Given the description of an element on the screen output the (x, y) to click on. 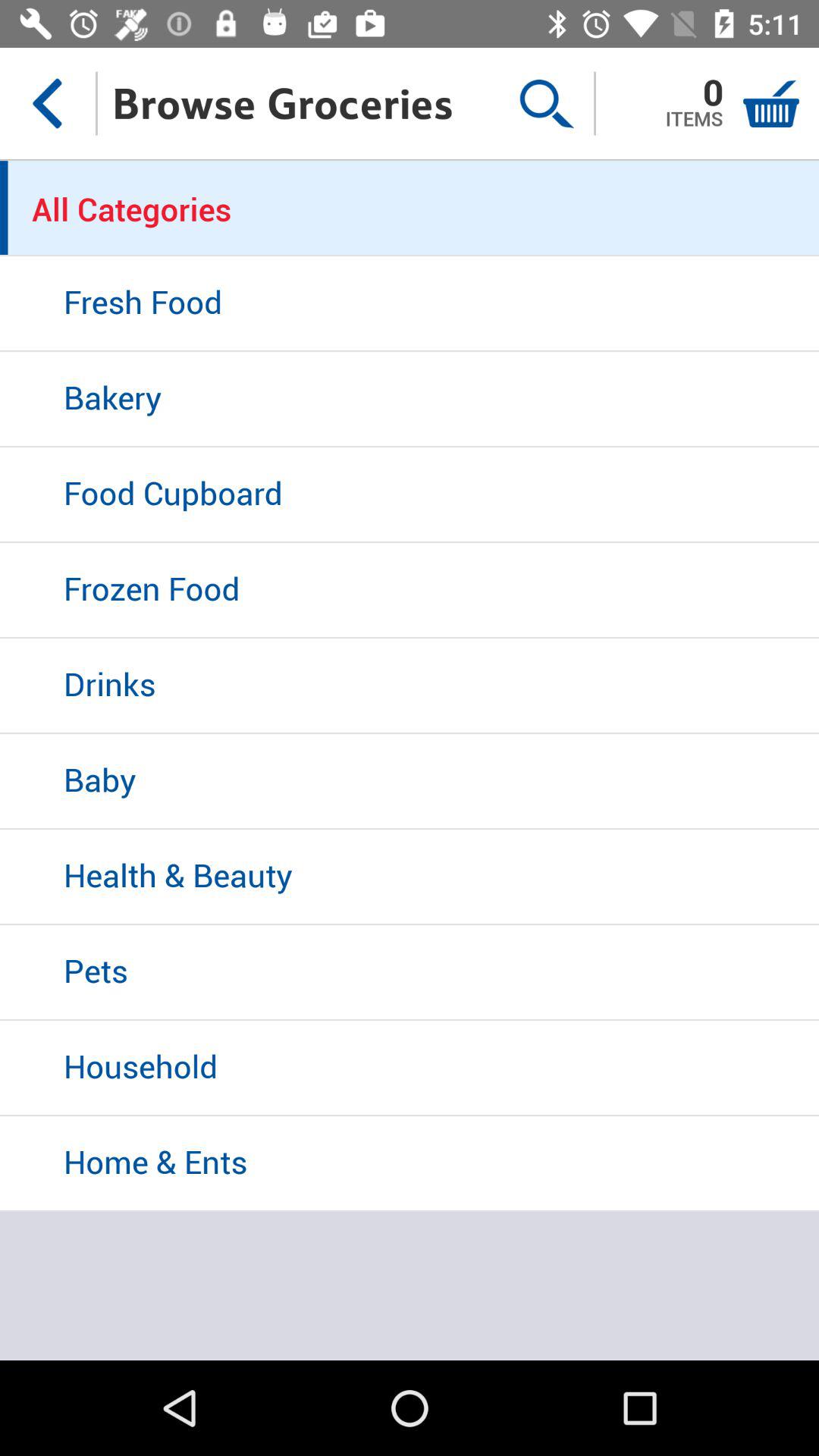
select the icon below bakery (409, 495)
